Given the description of an element on the screen output the (x, y) to click on. 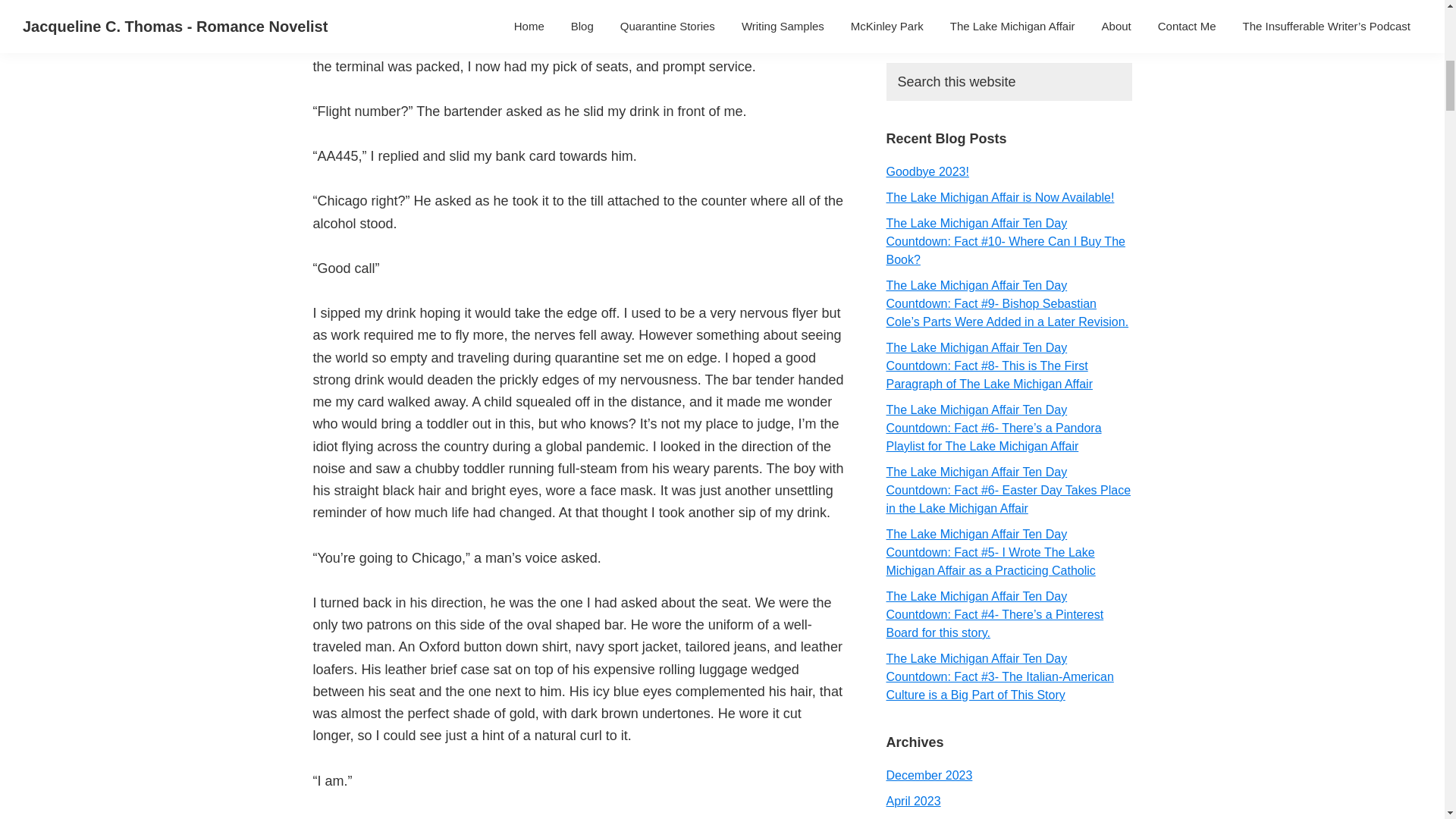
The Lake Michigan Affair is Now Available! (999, 196)
Sign up (930, 15)
April 2023 (912, 800)
Goodbye 2023! (926, 171)
December 2023 (928, 775)
Sign up (930, 15)
